Given the description of an element on the screen output the (x, y) to click on. 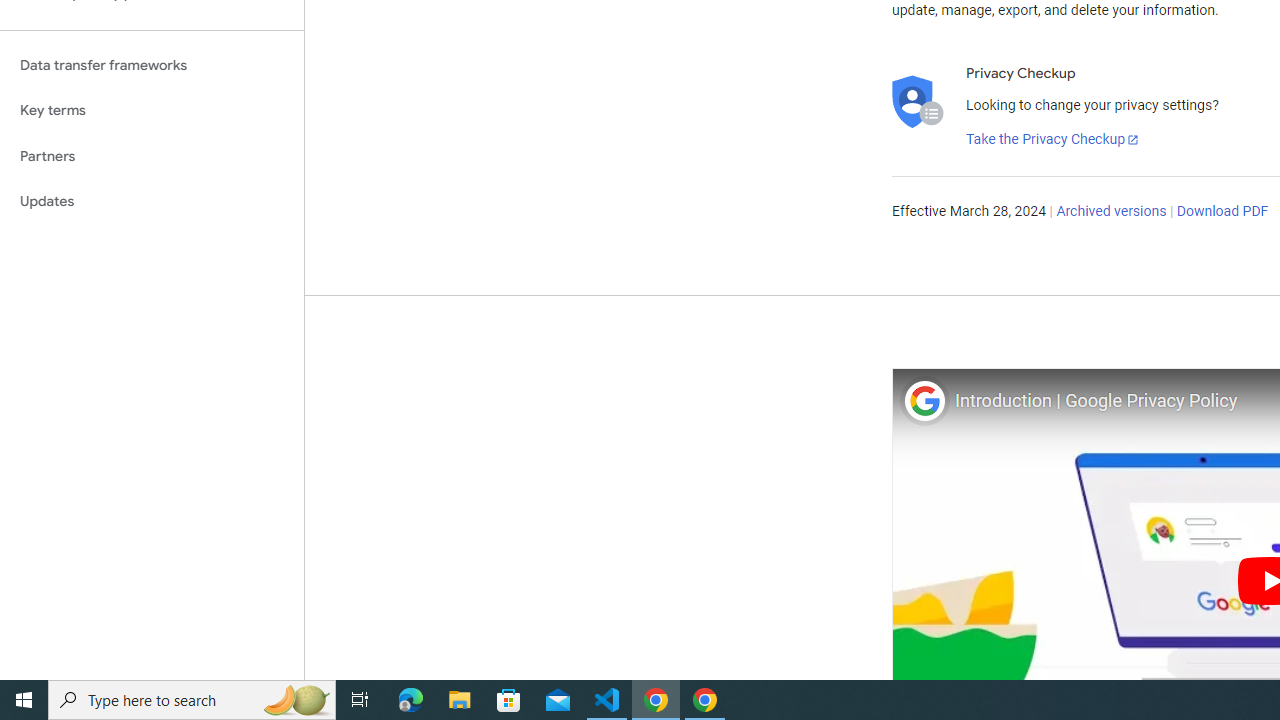
Partners (152, 156)
Photo image of Google (924, 400)
Take the Privacy Checkup (1053, 140)
Archived versions (1111, 212)
Download PDF (1222, 212)
Key terms (152, 110)
Data transfer frameworks (152, 65)
